Given the description of an element on the screen output the (x, y) to click on. 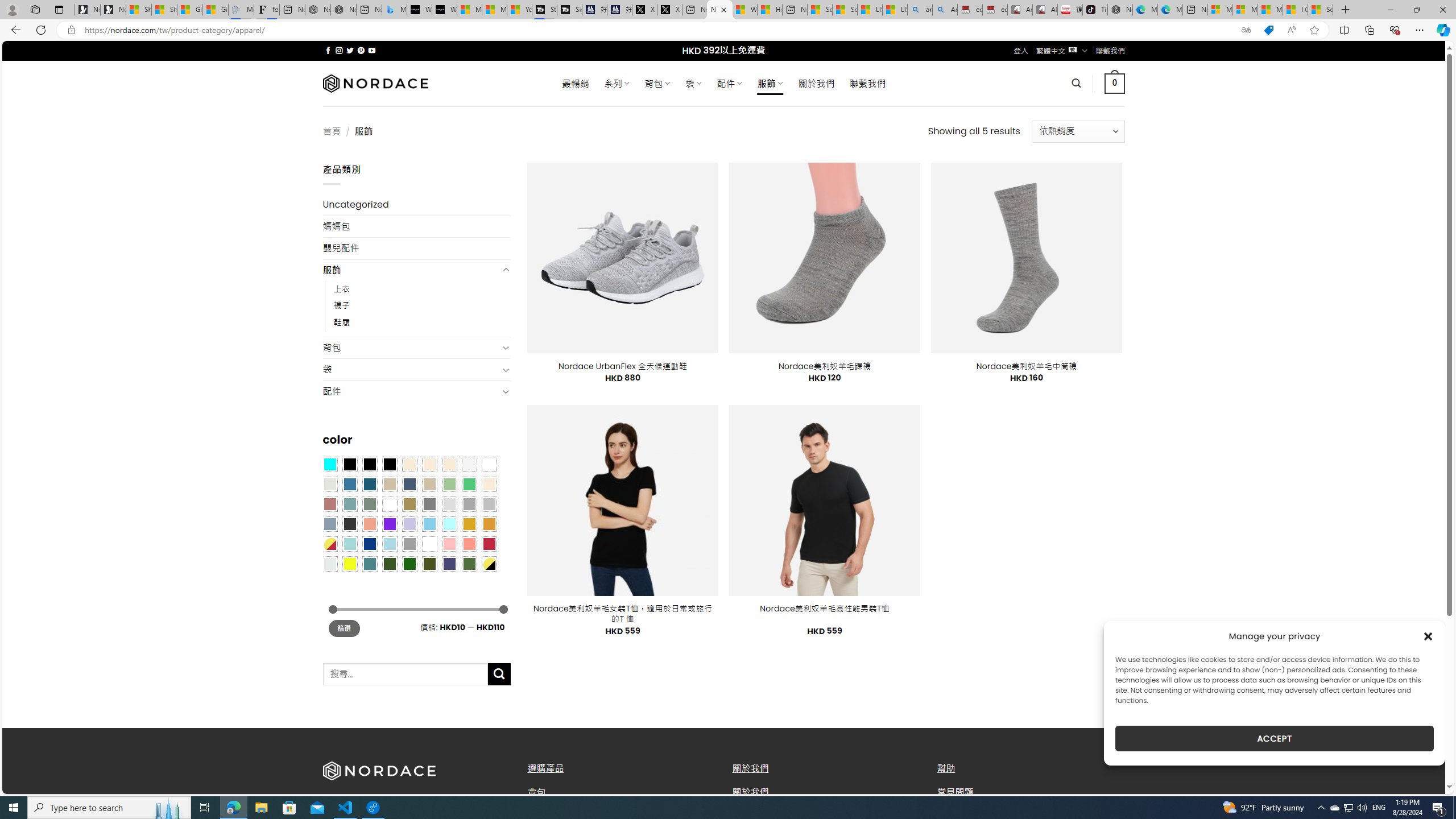
Cream (449, 464)
